Given the description of an element on the screen output the (x, y) to click on. 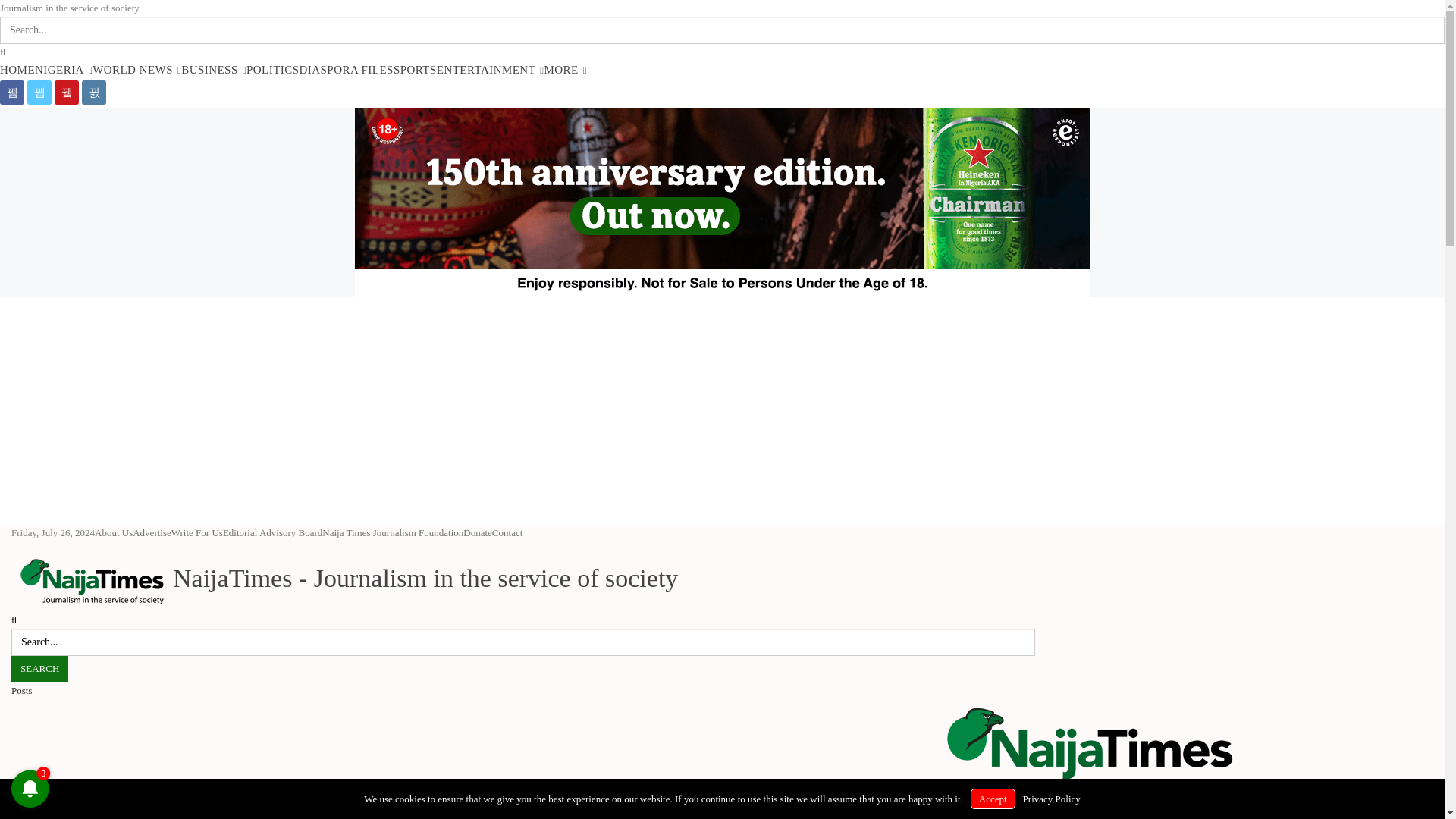
Search for: (523, 642)
MORE (565, 69)
Search (39, 668)
SPORTS (414, 69)
WORLD NEWS (136, 69)
ENTERTAINMENT (490, 69)
BUSINESS (213, 69)
HOME (17, 69)
DIASPORA FILES (345, 69)
Search (39, 668)
POLITICS (272, 69)
NIGERIA (63, 69)
